Given the description of an element on the screen output the (x, y) to click on. 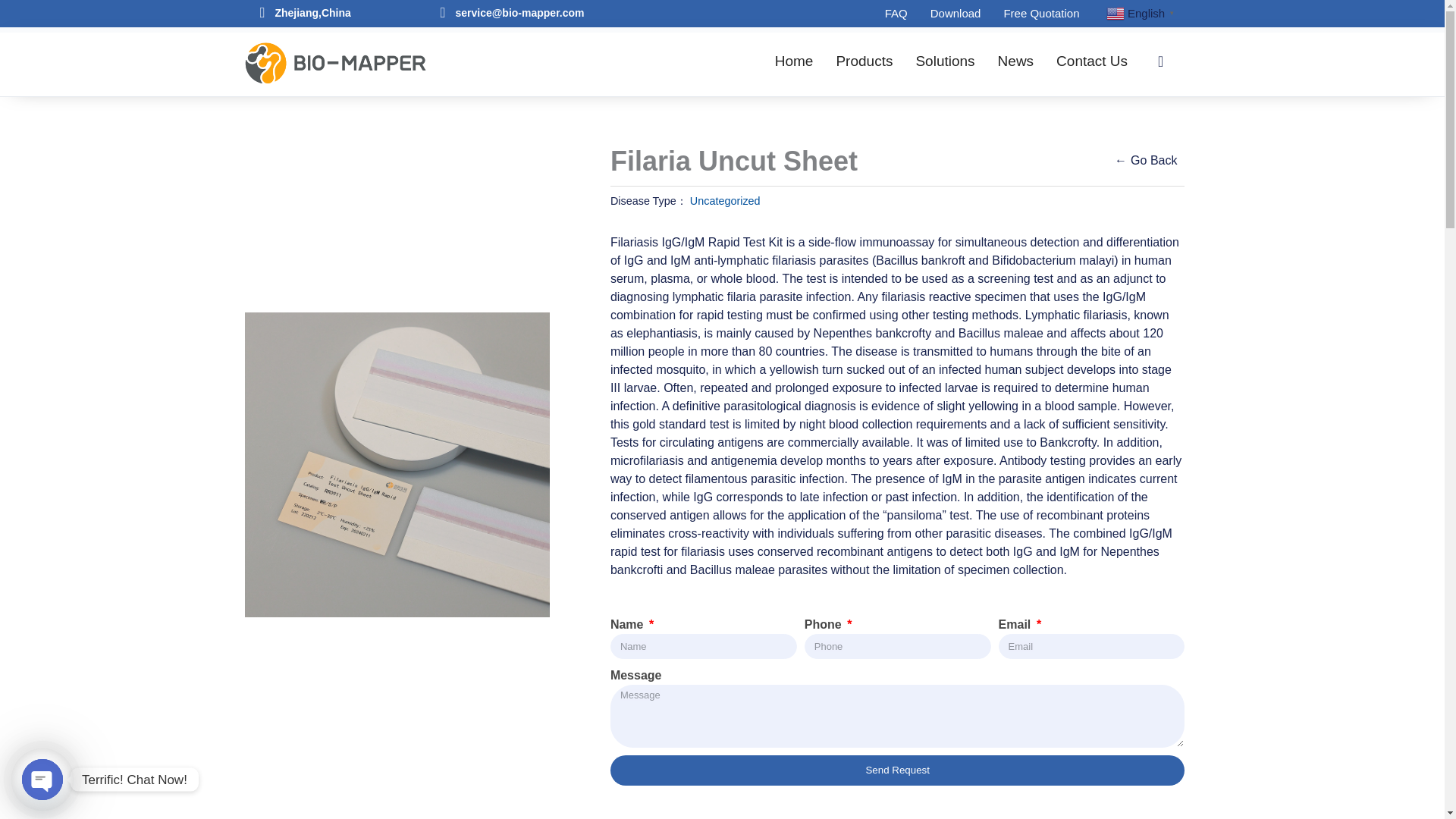
Download (955, 13)
Home (793, 60)
FAQ (895, 13)
Products (864, 60)
Free Quotation (1040, 13)
